Given the description of an element on the screen output the (x, y) to click on. 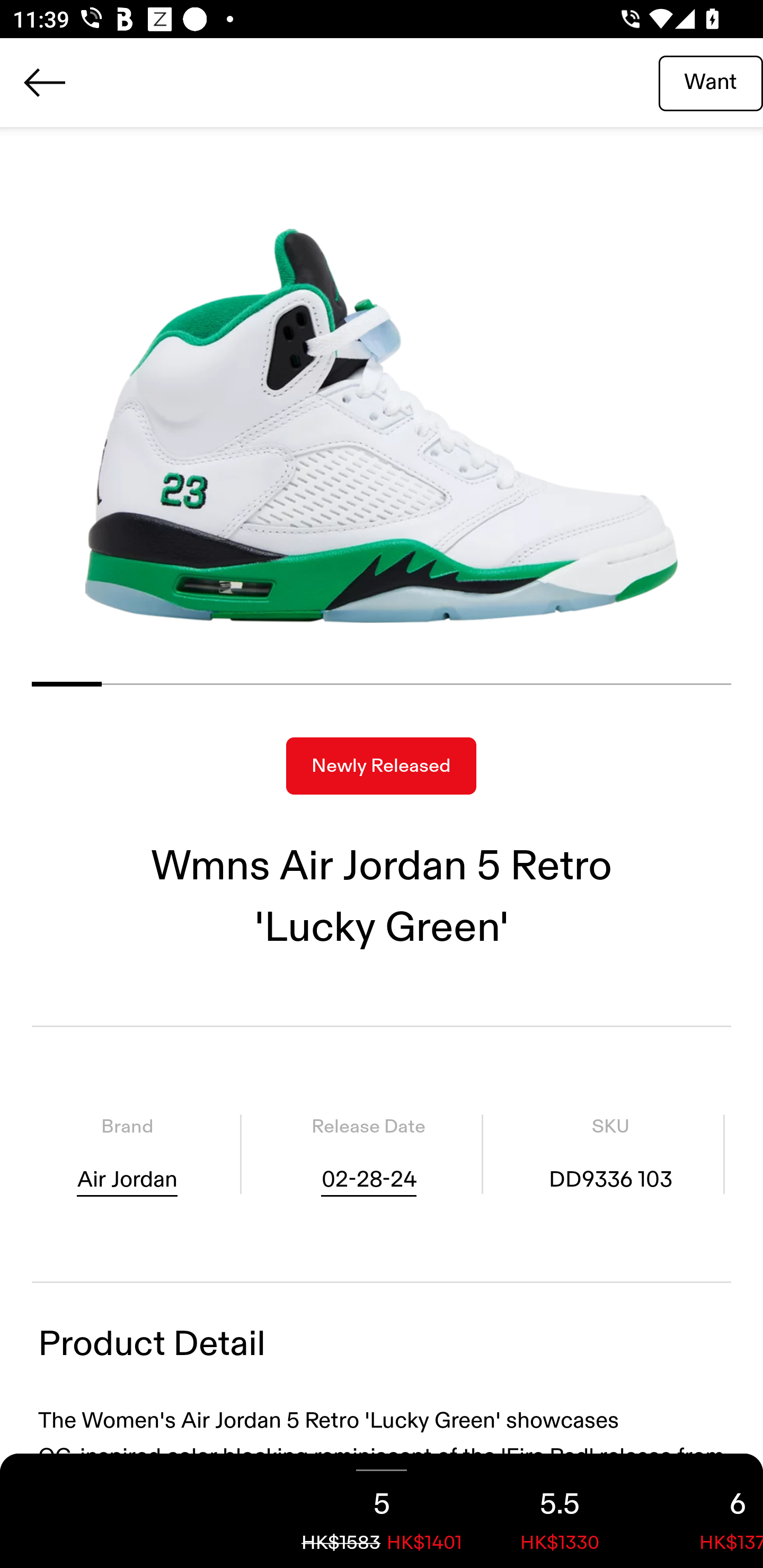
Want (710, 82)
Newly Released (381, 765)
Brand Air Jordan (126, 1153)
Release Date 02-28-24 (368, 1153)
SKU DD9336 103 (609, 1153)
5 HK$1583 HK$1401 (381, 1510)
5.5 HK$1330 (559, 1510)
6 HK$1377 (705, 1510)
